Given the description of an element on the screen output the (x, y) to click on. 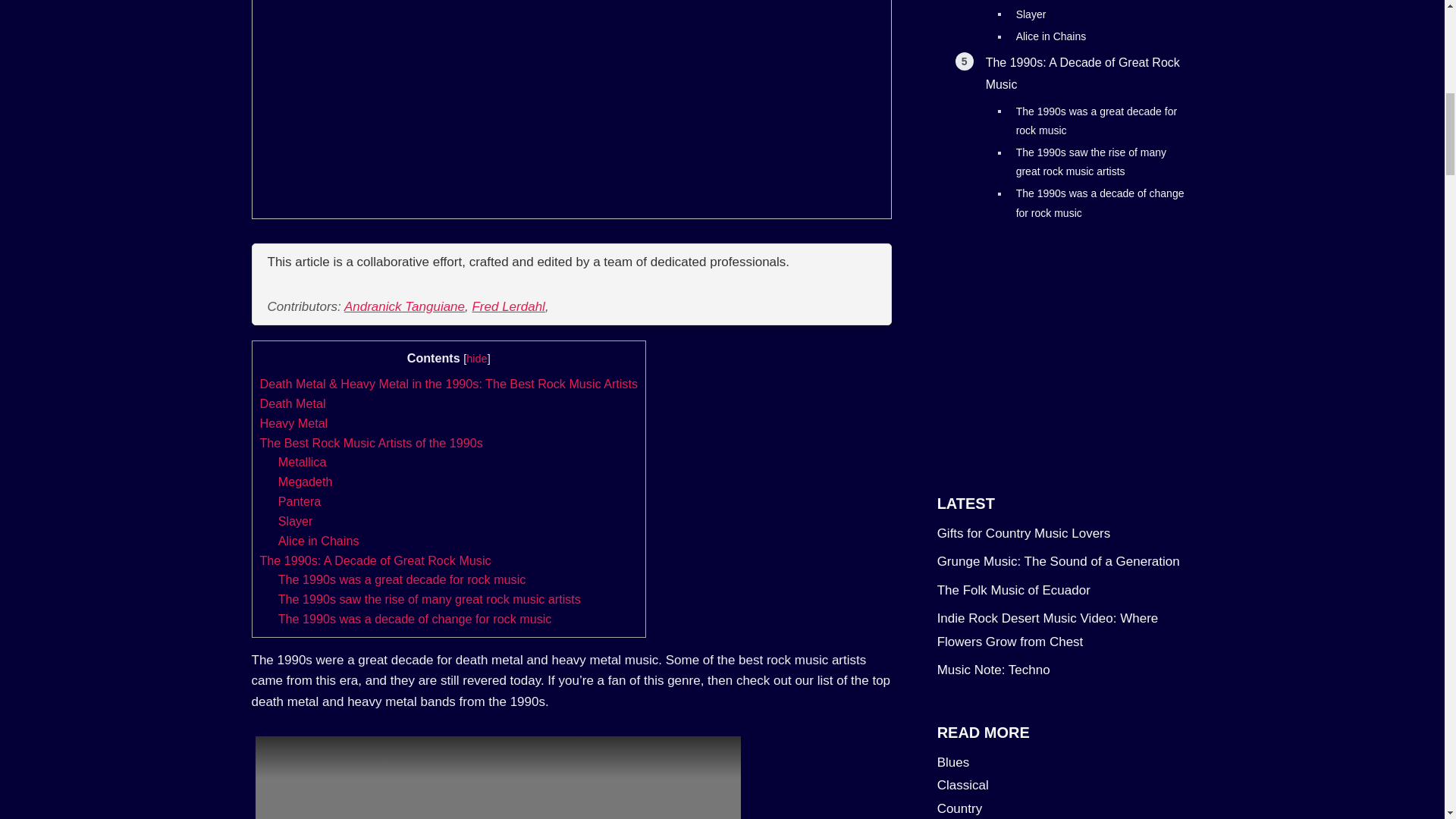
Death Metal (291, 403)
Megadeth (305, 481)
The 1990s was a great decade for rock music (401, 579)
The Best Rock Music Artists of the 1990s (370, 442)
Fred Lerdahl (507, 306)
The 1990s was a decade of change for rock music (414, 618)
Slayer (295, 520)
Andranick Tanguiane (403, 306)
The 1990s saw the rise of many great rock music artists (429, 599)
Advertisement (1065, 346)
Alice in Chains (318, 540)
hide (475, 358)
Heavy Metal (293, 422)
The 1990s: A Decade of Great Rock Music (374, 560)
Pantera (299, 500)
